Given the description of an element on the screen output the (x, y) to click on. 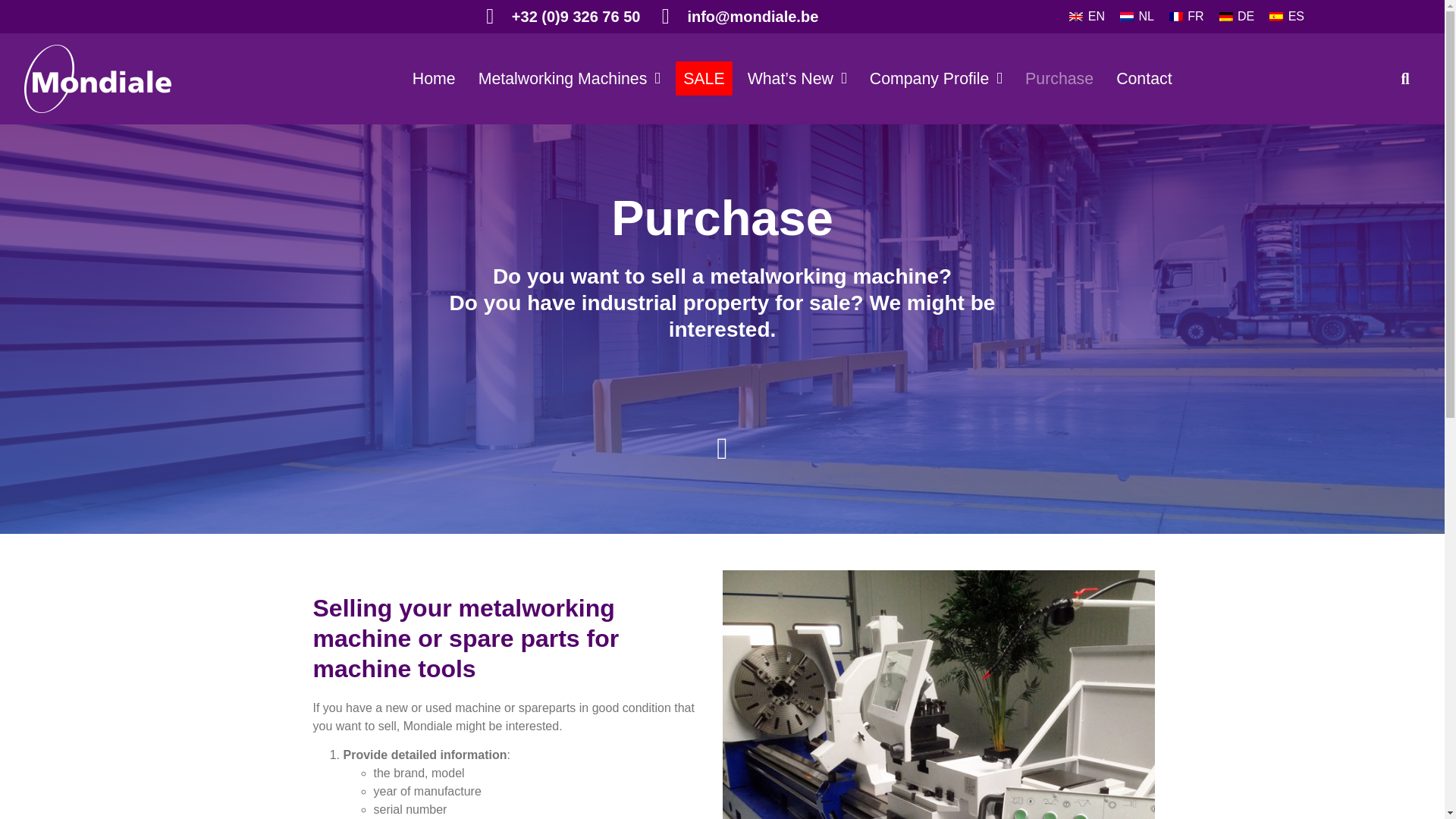
SALE (703, 78)
Home (433, 78)
Contact (1143, 78)
DE (1236, 16)
FR (1186, 16)
Company Profile (935, 78)
EN (1086, 16)
Purchase (1058, 78)
NL (1136, 16)
ES (1286, 16)
Metalworking Machines (569, 78)
